Given the description of an element on the screen output the (x, y) to click on. 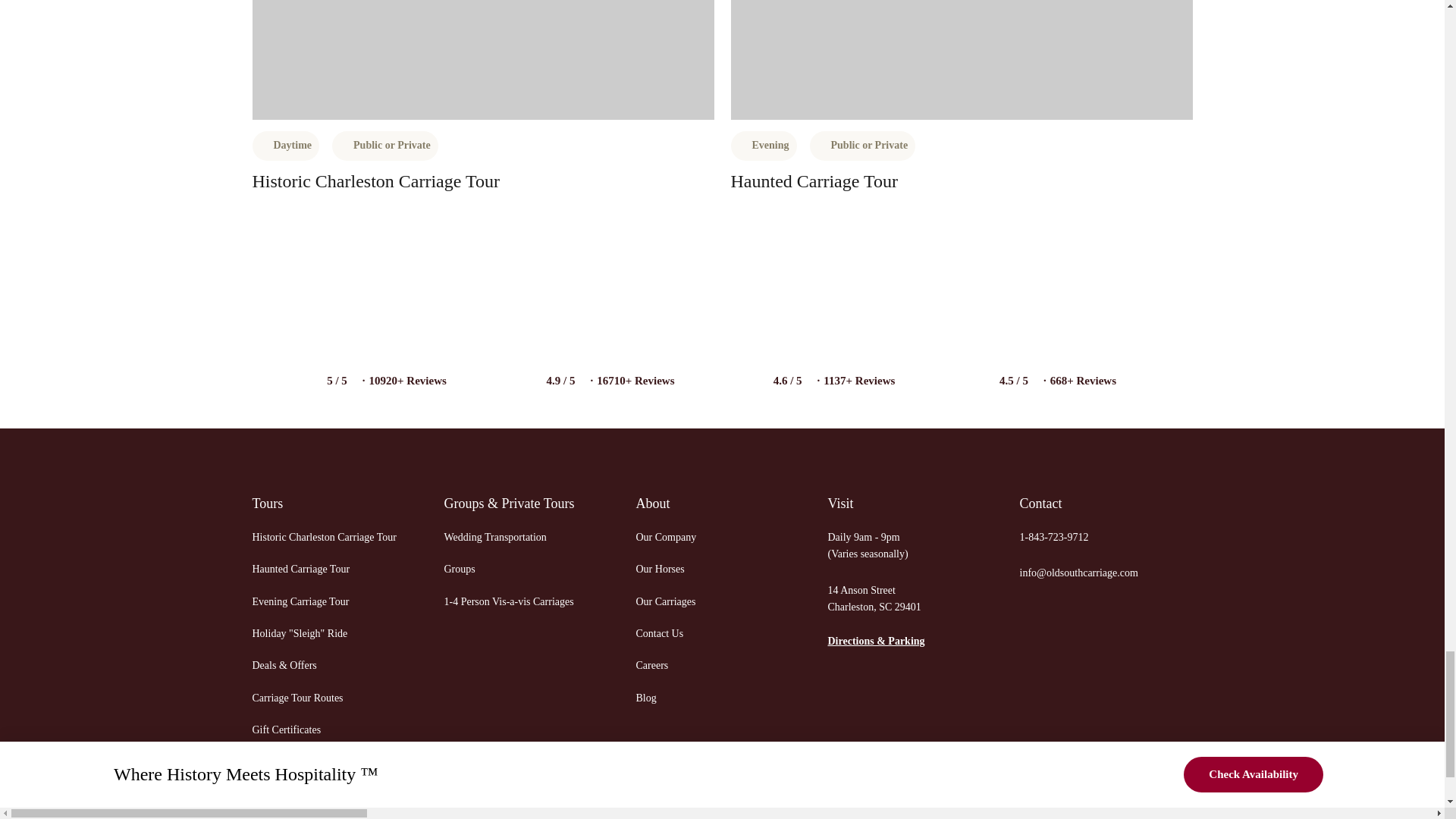
Haunted Carriage Tour (814, 180)
Popular! (961, 59)
Historic Charleston Carriage Tour (375, 180)
Popular! (482, 59)
Historic Charleston Carriage Tour (323, 530)
Haunted Carriage Tour (323, 562)
